Given the description of an element on the screen output the (x, y) to click on. 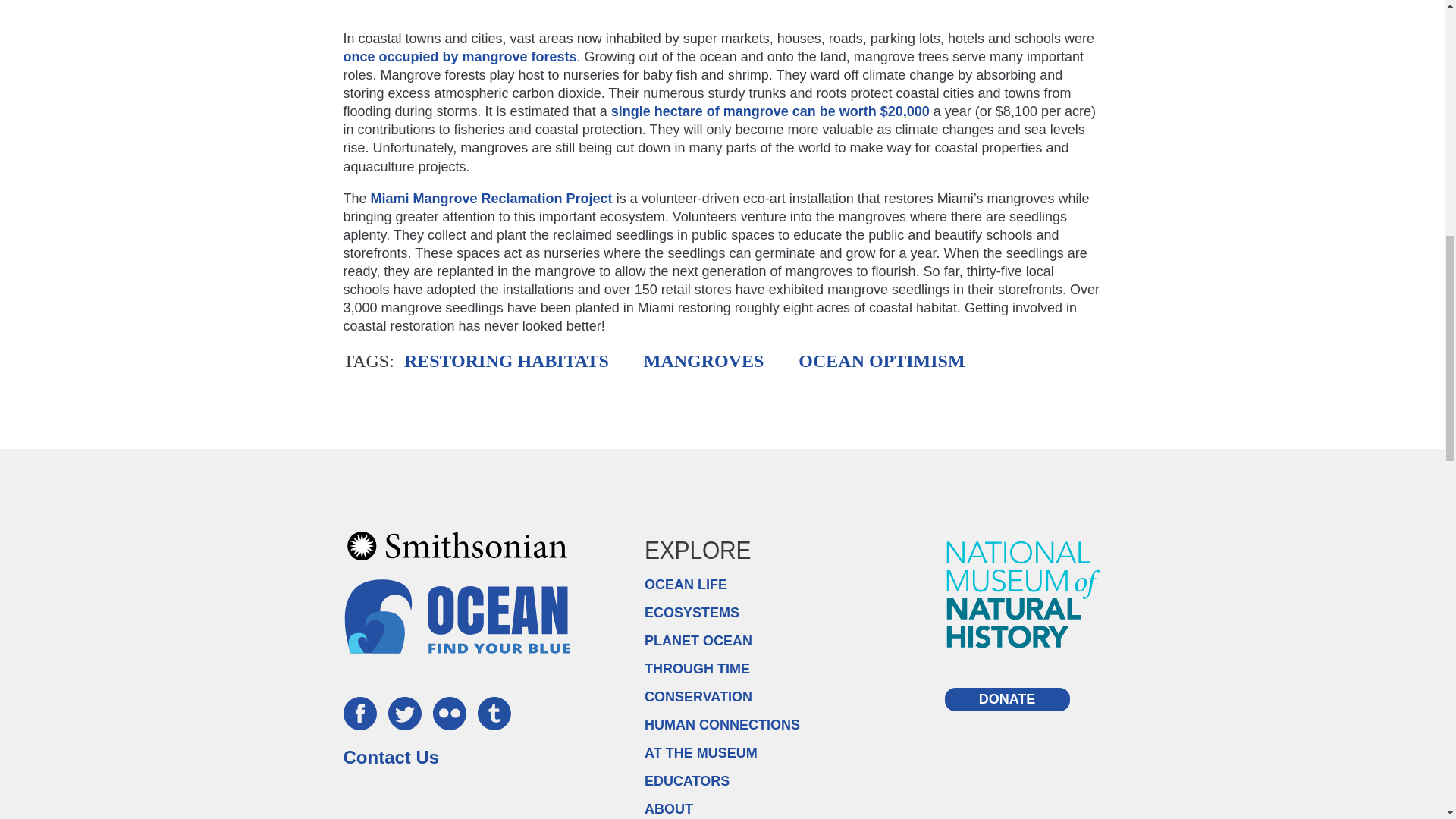
Miami Connects Art and Mangrove Restoration (721, 5)
Smithsonian Ocean (456, 615)
Smithsonian National Museum of Natural History (1023, 593)
Smithsonian Institution (456, 545)
